Given the description of an element on the screen output the (x, y) to click on. 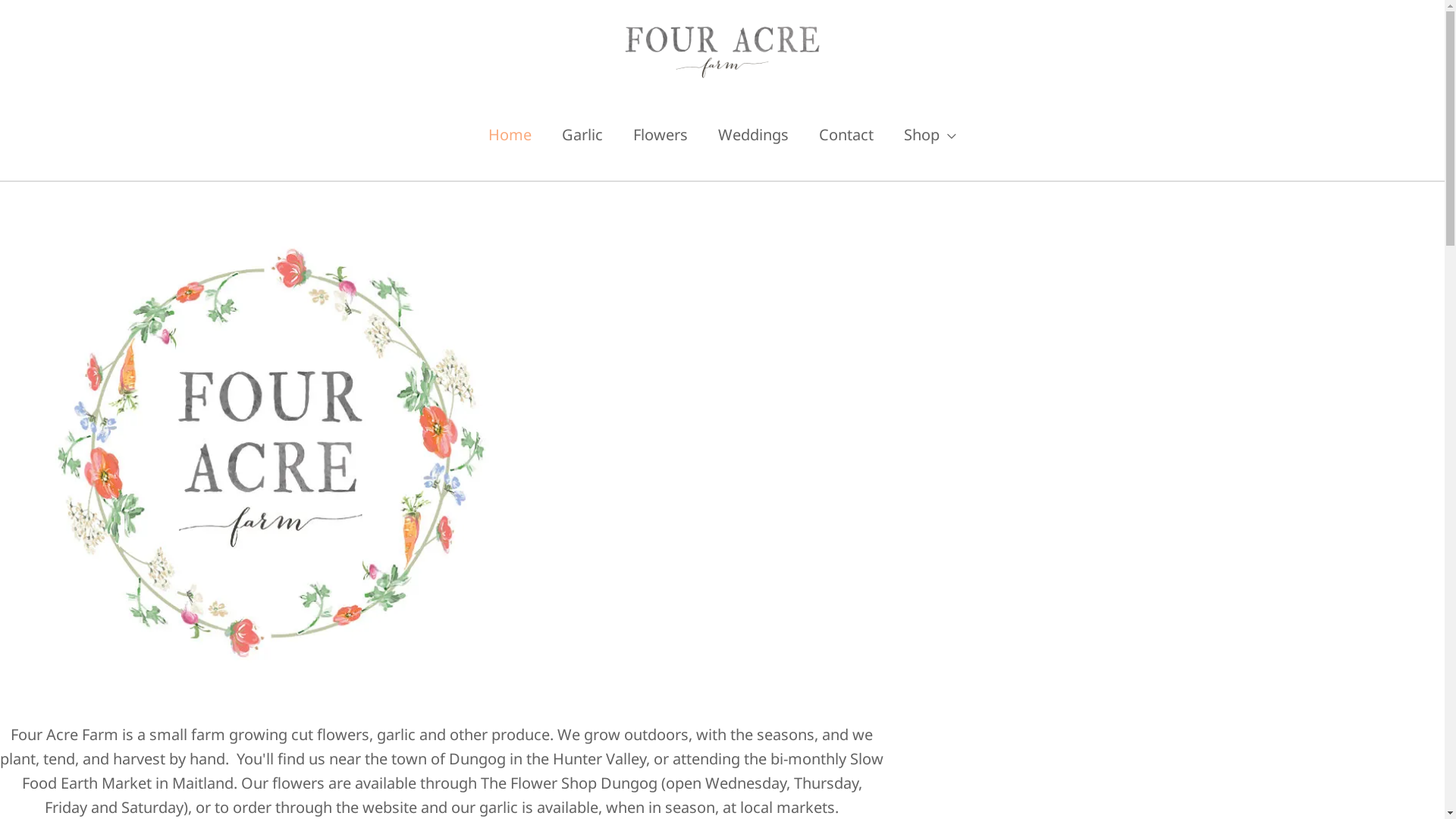
Flowers Element type: text (660, 134)
Garlic Element type: text (582, 134)
Home Element type: text (509, 134)
Weddings Element type: text (752, 134)
Contact Element type: text (845, 134)
FAFLogo Element type: hover (268, 463)
Shop Element type: text (929, 134)
